Given the description of an element on the screen output the (x, y) to click on. 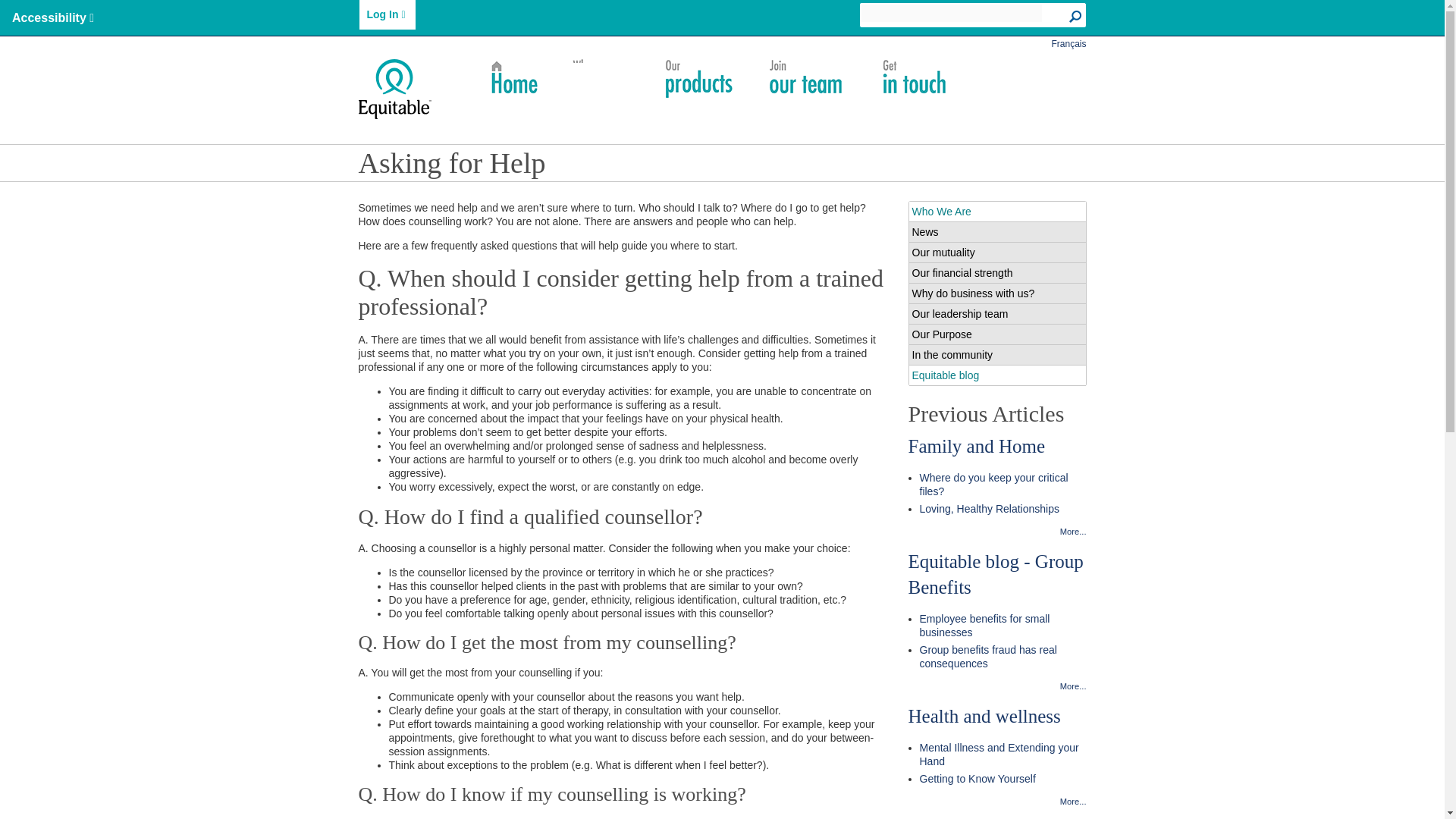
Employee benefits for small businesses (1002, 625)
Search (1076, 16)
Health and wellness (984, 715)
Accessibility (53, 18)
Who We Are (601, 79)
Home (406, 88)
Home (513, 79)
Mental Illness and Extending your Hand (1002, 754)
Log In   (387, 14)
Loving, Healthy Relationships (1002, 508)
